Given the description of an element on the screen output the (x, y) to click on. 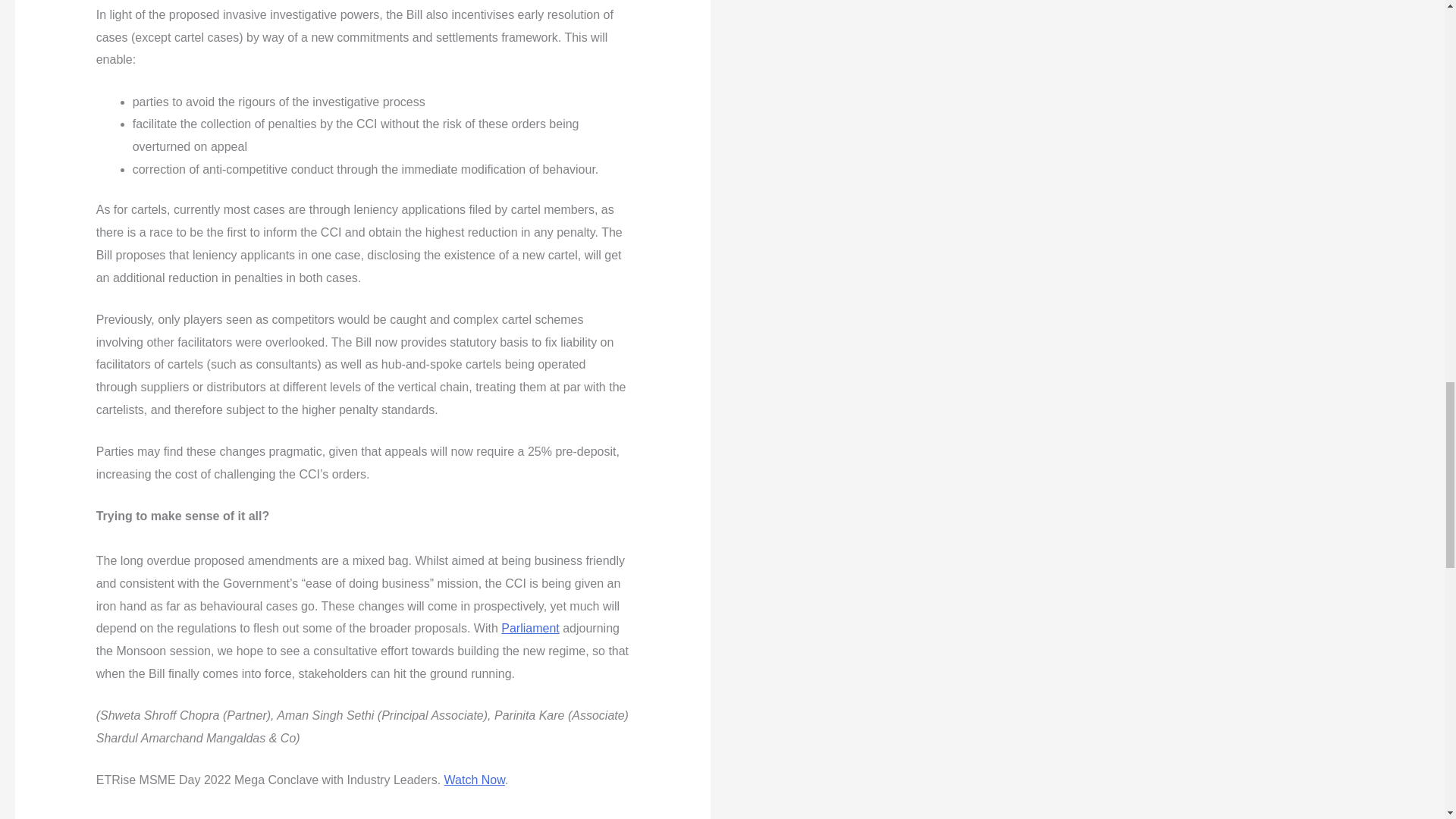
Parliament (529, 627)
Watch Now (474, 779)
